Given the description of an element on the screen output the (x, y) to click on. 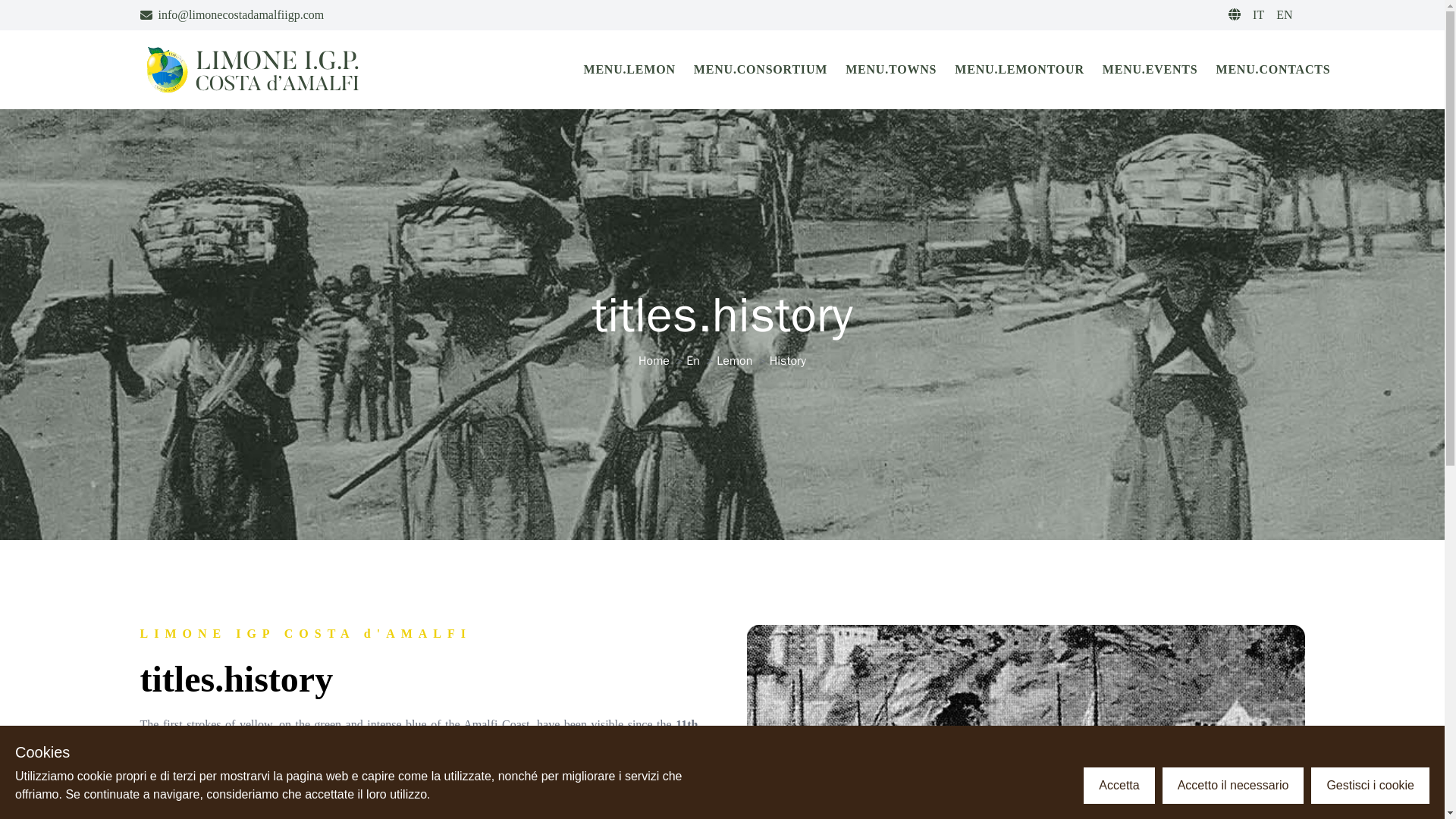
EN (1284, 14)
En (692, 360)
Home (654, 360)
History (788, 360)
MENU.CONSORTIUM (760, 69)
MENU.LEMON (629, 69)
MENU.TOWNS (890, 69)
MENU.LEMONTOUR (1019, 69)
MENU.EVENTS (1150, 69)
MENU.CONTACTS (1272, 69)
Lemon (734, 360)
